Given the description of an element on the screen output the (x, y) to click on. 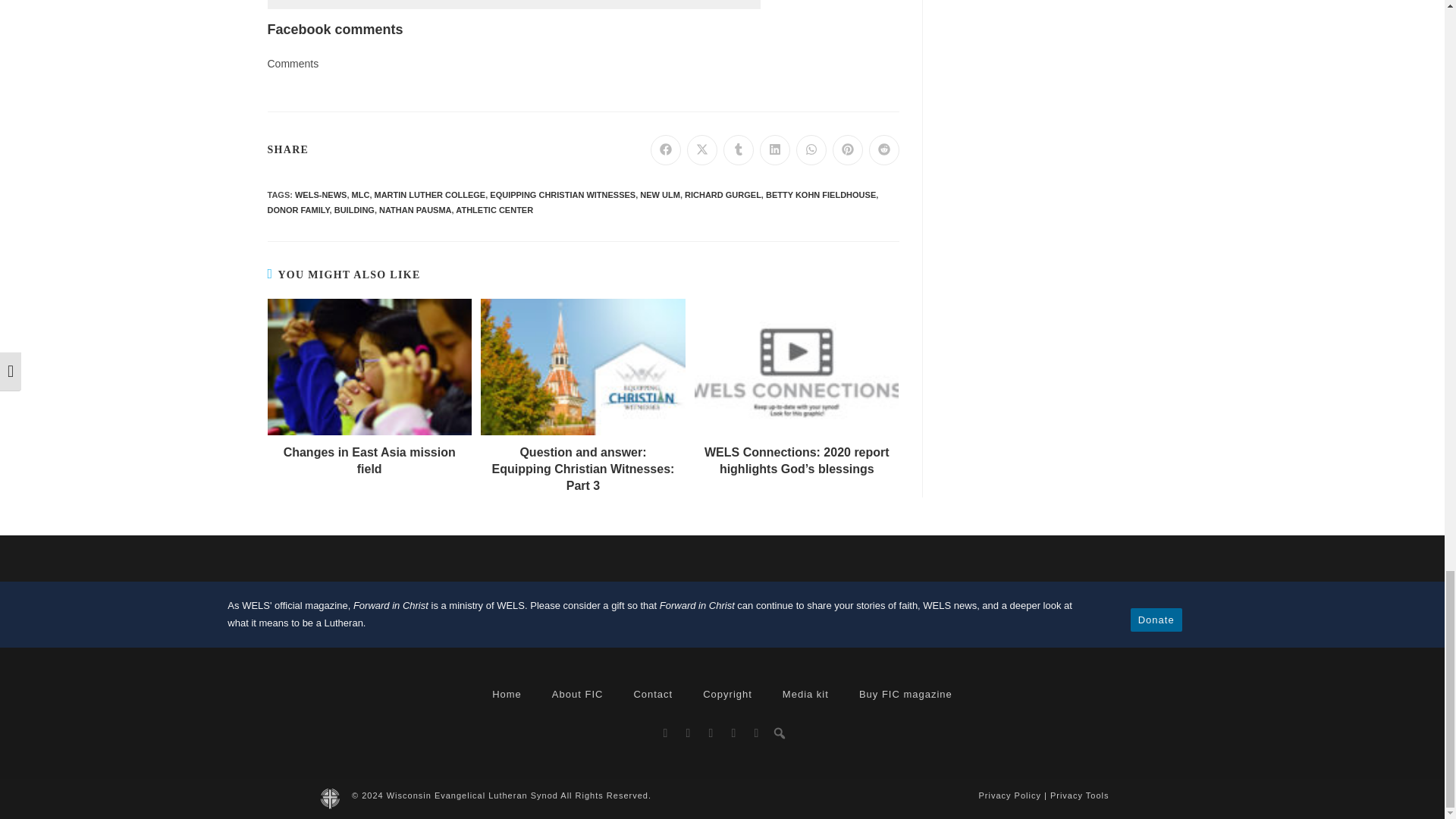
MLC (360, 194)
Opens in a new window (811, 150)
Opens in a new window (884, 150)
BETTY KOHN FIELDHOUSE (820, 194)
NEW ULM (659, 194)
Opens in a new window (738, 150)
EQUIPPING CHRISTIAN WITNESSES (561, 194)
Opens in a new window (702, 150)
Opens in a new window (665, 150)
MARTIN LUTHER COLLEGE (430, 194)
Opens in a new window (775, 150)
RICHARD GURGEL (722, 194)
Opens in a new window (847, 150)
WELS-NEWS (320, 194)
